Given the description of an element on the screen output the (x, y) to click on. 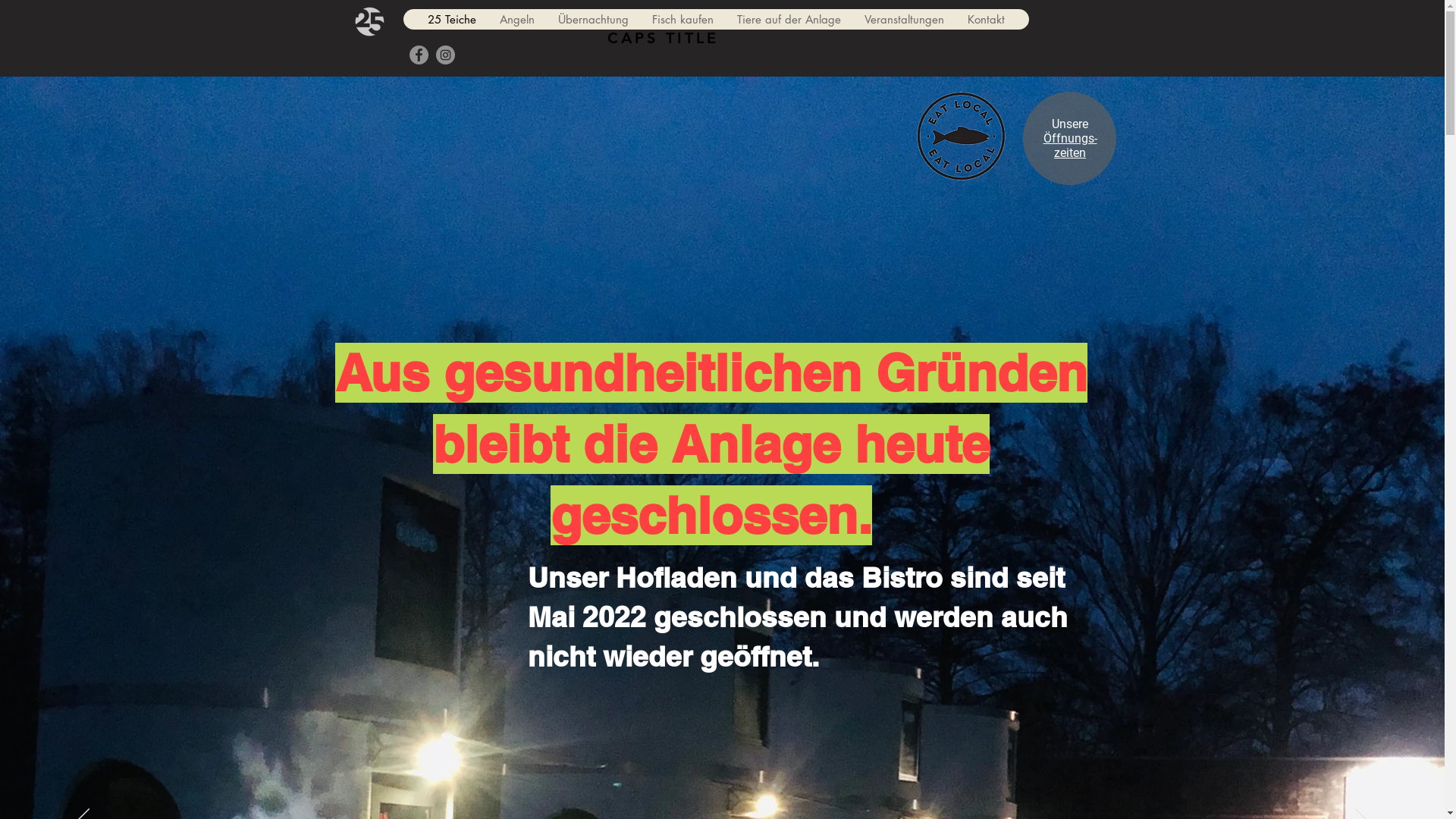
Kontakt Element type: text (985, 19)
Tiere auf der Anlage Element type: text (788, 19)
zeiten Element type: text (1069, 152)
Fisch kaufen Element type: text (682, 19)
Angeln Element type: text (516, 19)
25 Teiche Element type: text (451, 19)
Veranstaltungen Element type: text (903, 19)
